Given the description of an element on the screen output the (x, y) to click on. 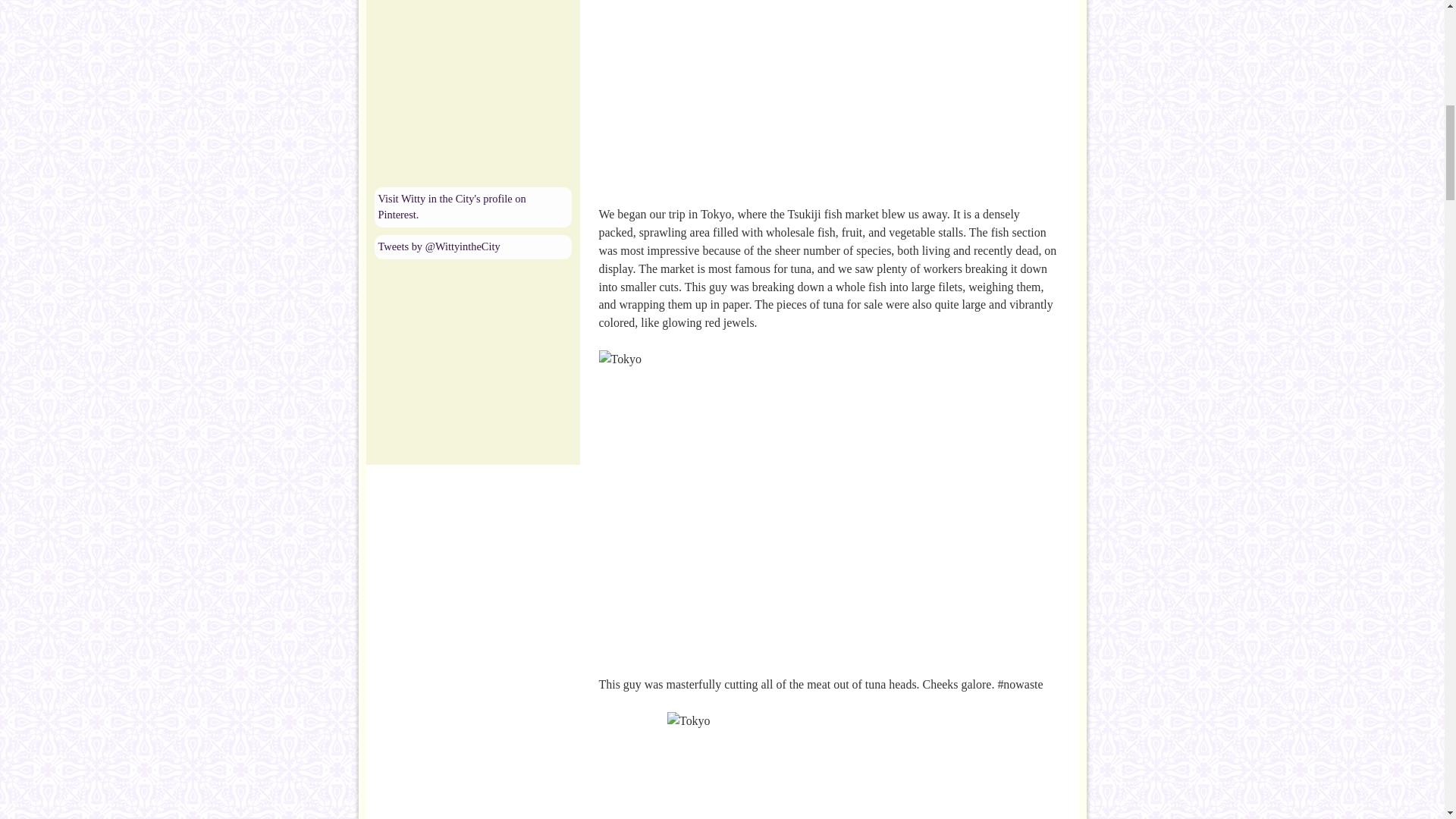
Visit Witty in the City's profile on Pinterest. (451, 206)
